Given the description of an element on the screen output the (x, y) to click on. 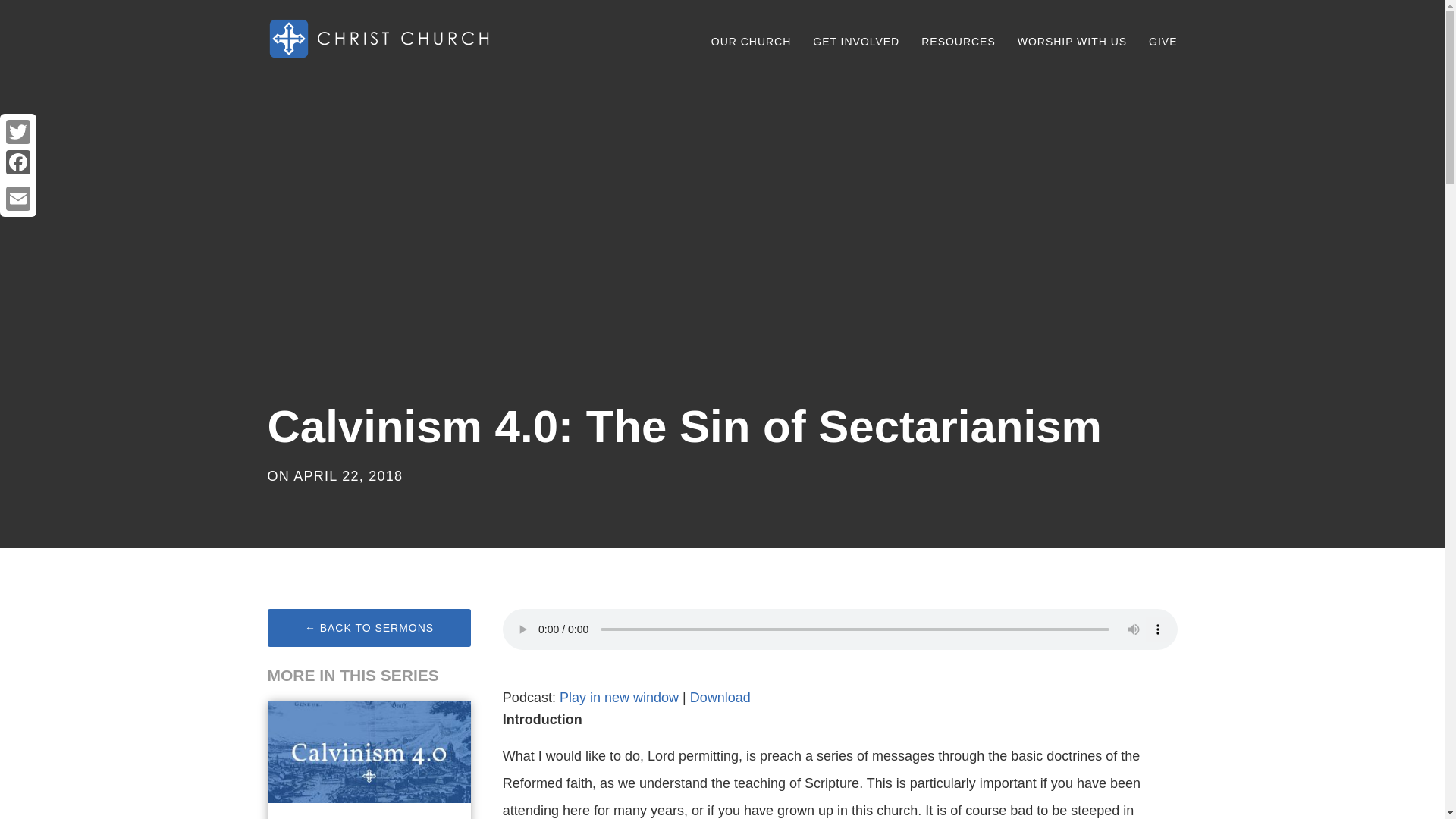
Email (17, 198)
Christ Church (380, 38)
Facebook (17, 162)
GET INVOLVED (855, 36)
Play in new window (618, 697)
Play in new window (618, 697)
Calvinism 4.0: Global Grace, Not Global Indulgence (348, 818)
WORSHIP WITH US (1071, 36)
Download (720, 697)
